Given the description of an element on the screen output the (x, y) to click on. 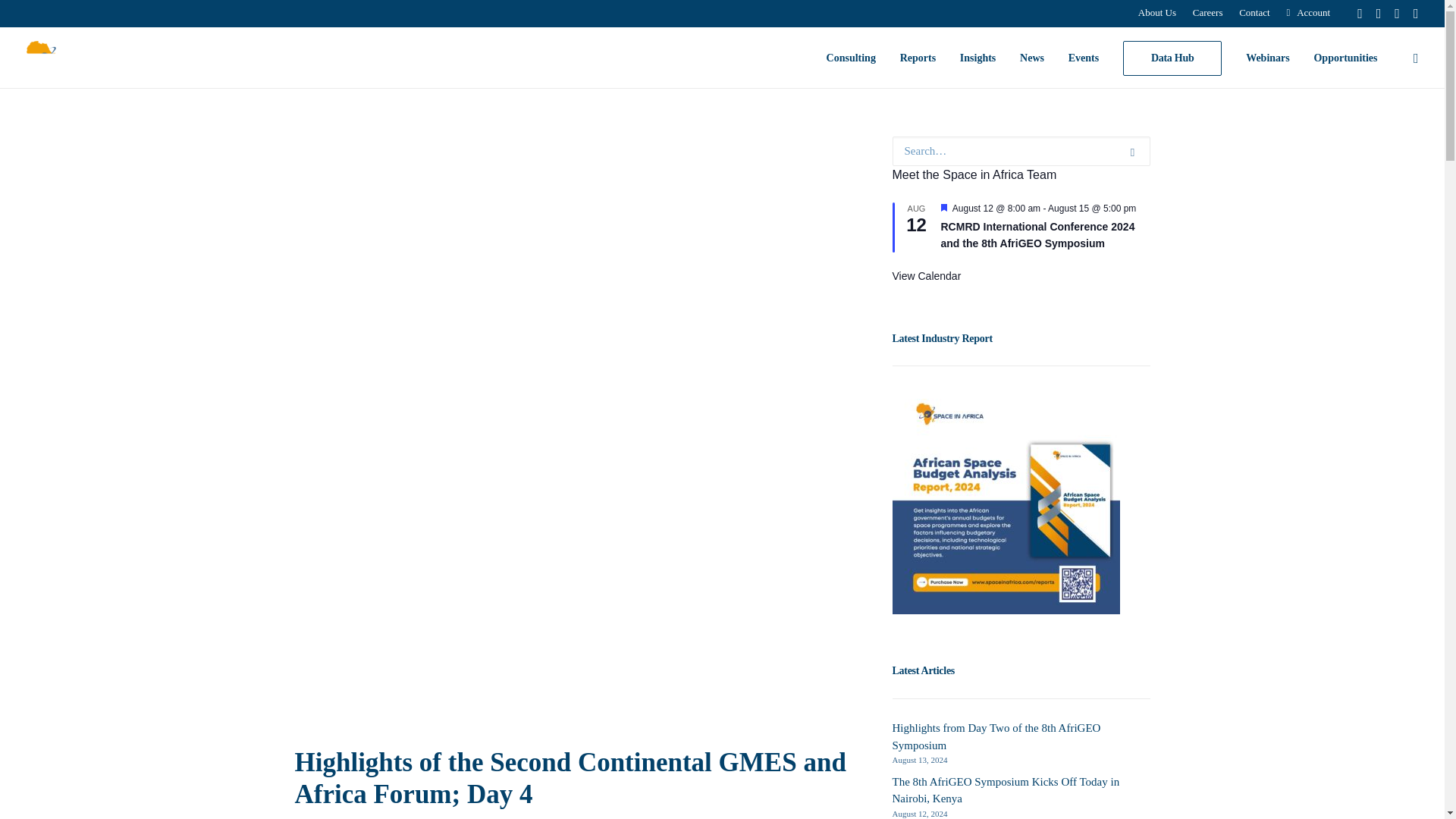
Contact (1253, 12)
Reports (917, 57)
Data Hub (1172, 58)
About Us (1156, 12)
Insights (977, 57)
Reports (917, 57)
Account (1307, 12)
Consulting (850, 57)
Account (1307, 12)
